Given the description of an element on the screen output the (x, y) to click on. 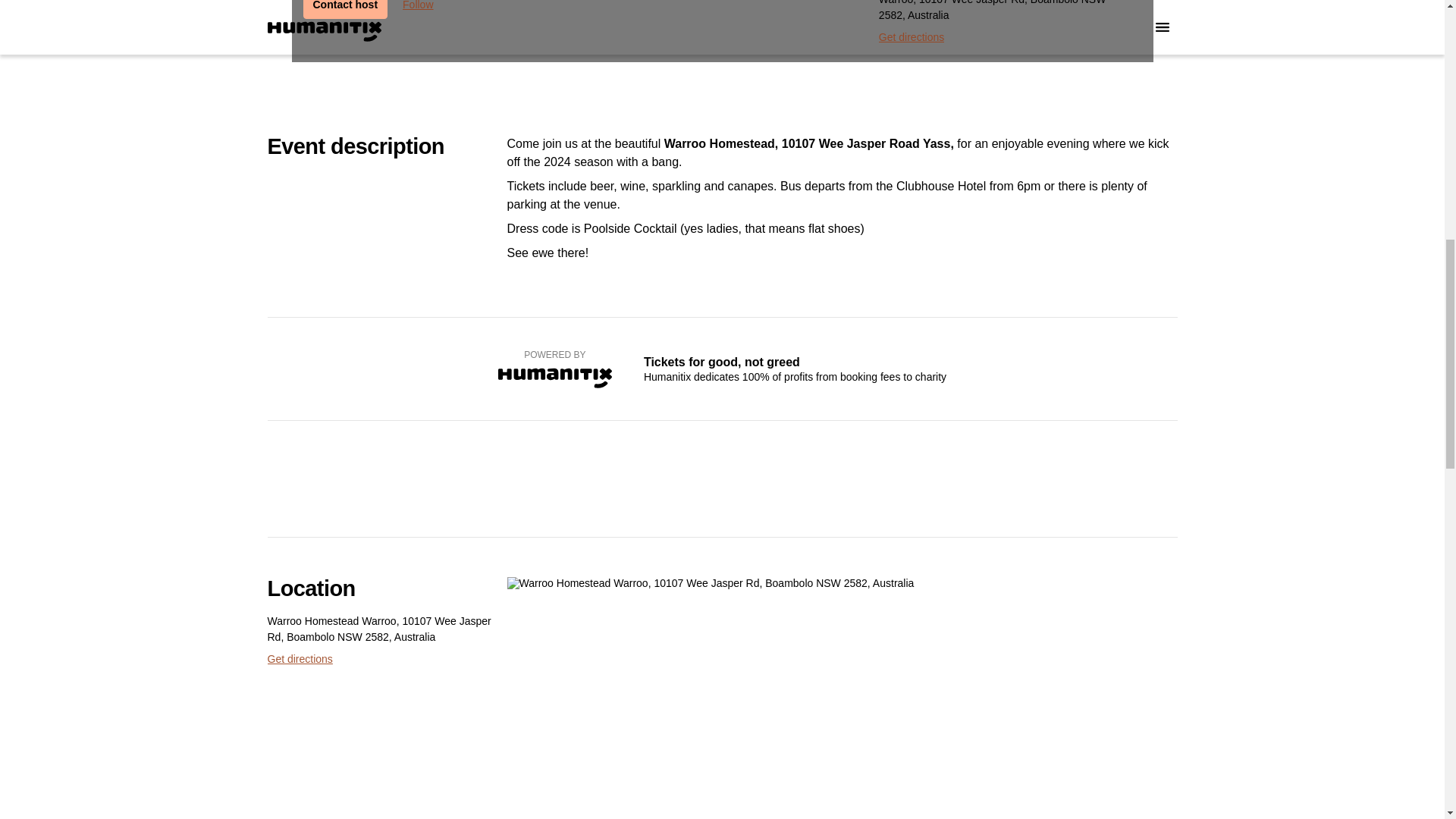
Follow (417, 9)
Get directions (298, 658)
Get directions (911, 36)
